Given the description of an element on the screen output the (x, y) to click on. 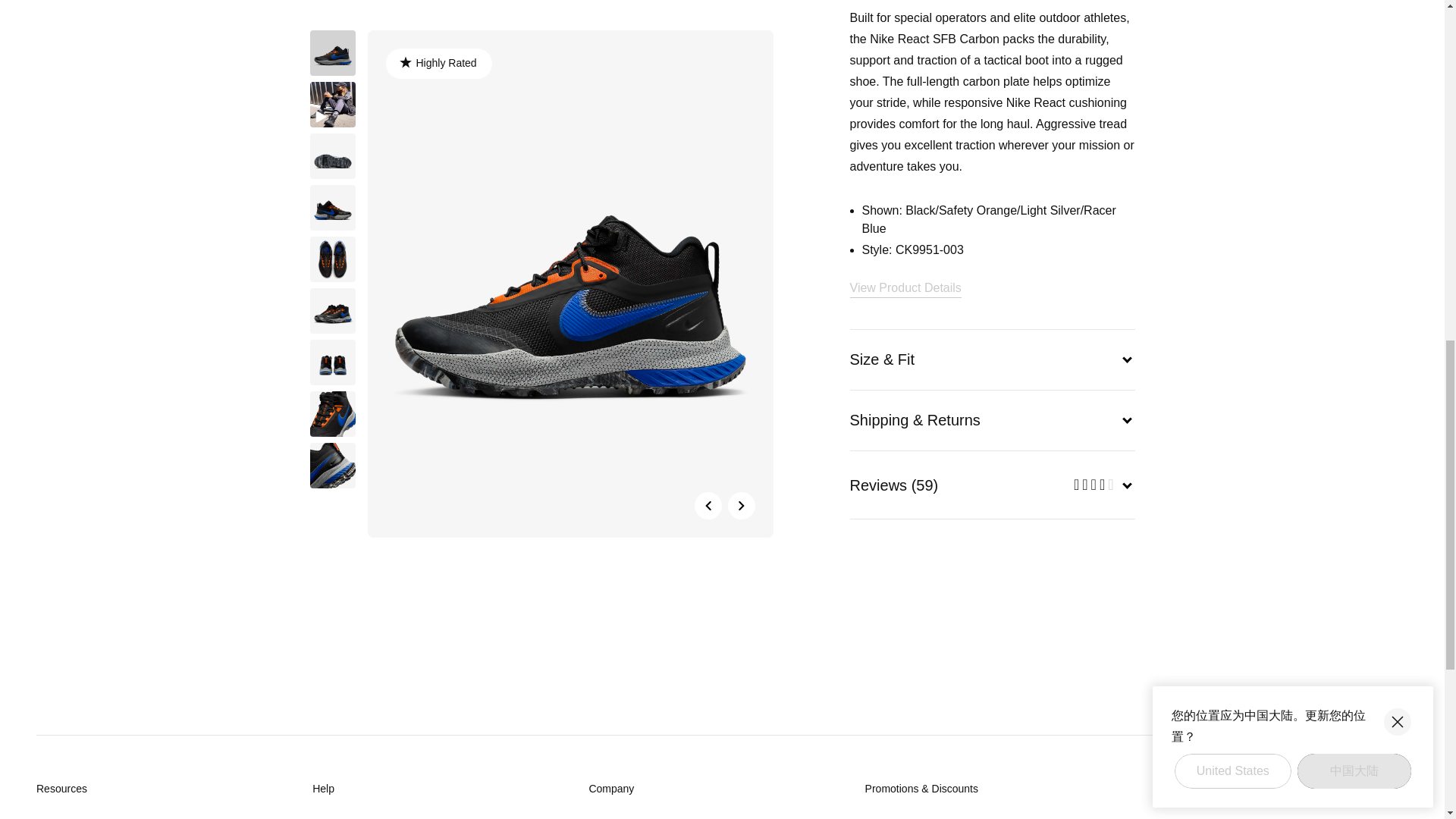
Selected Location: United States (1368, 789)
